Given the description of an element on the screen output the (x, y) to click on. 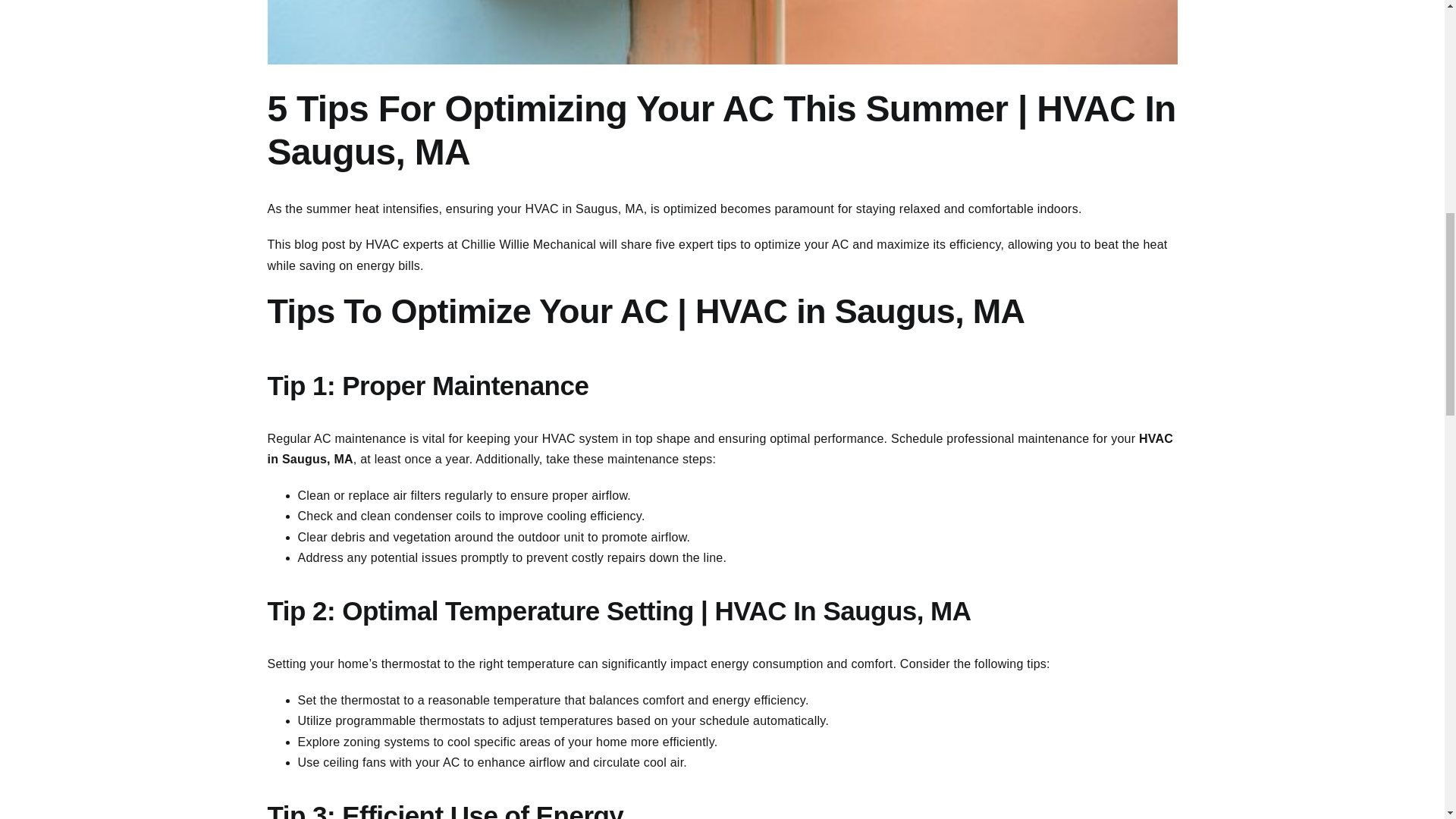
Chillie Willie Mechanical (528, 244)
View Larger Image (721, 32)
HVAC in Saugus, MA (584, 208)
